Given the description of an element on the screen output the (x, y) to click on. 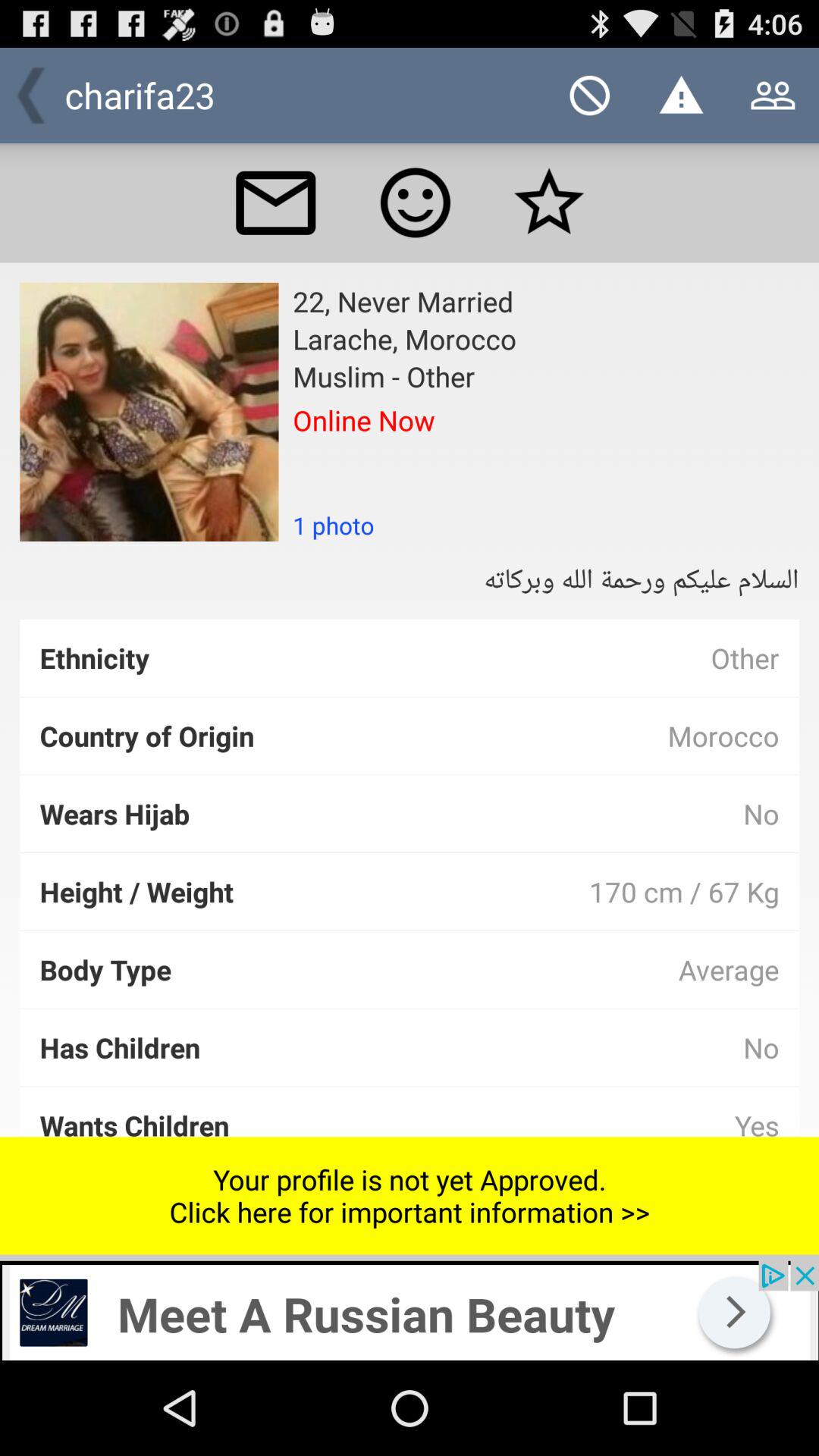
go to advertisement (409, 1310)
